Given the description of an element on the screen output the (x, y) to click on. 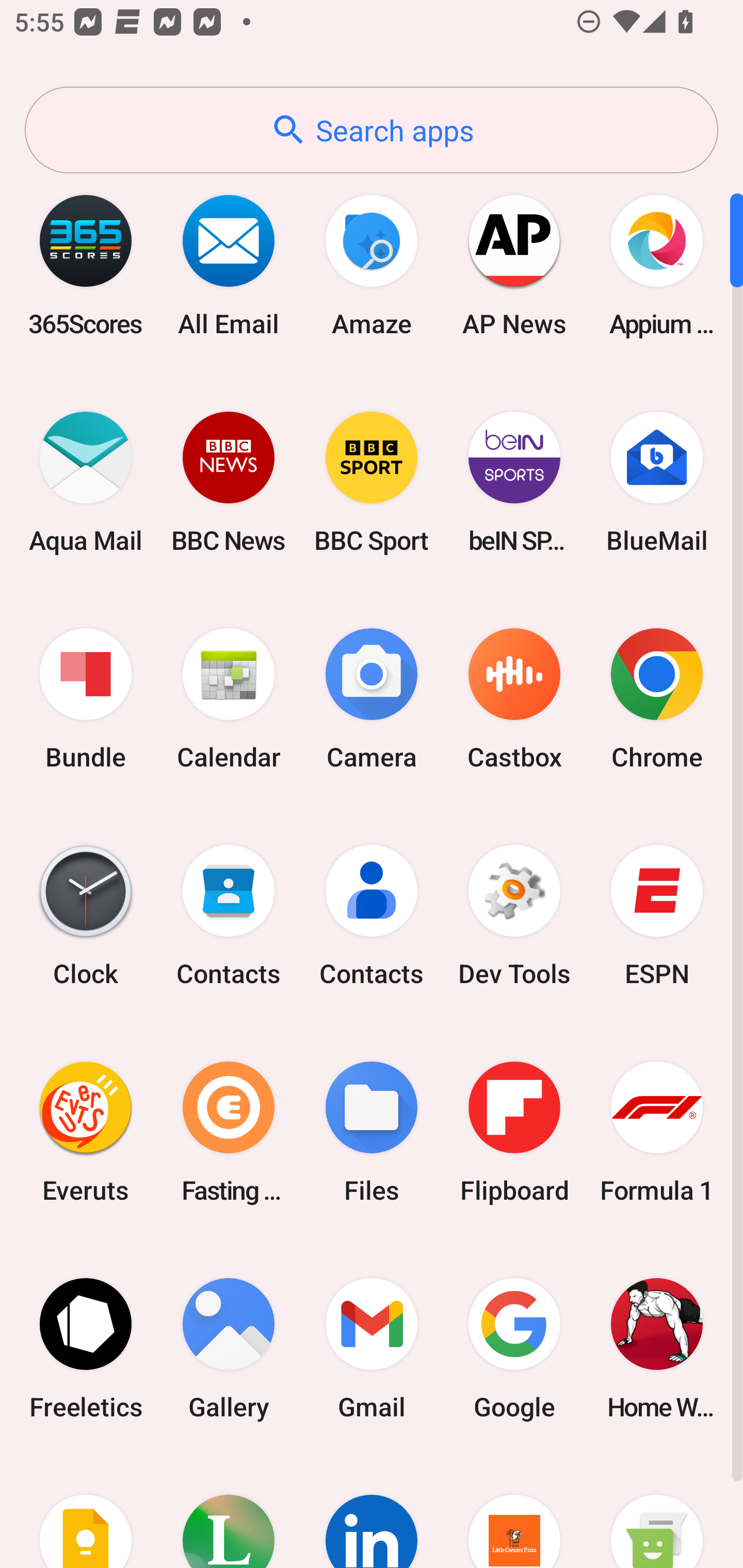
  Search apps (371, 130)
365Scores (85, 264)
All Email (228, 264)
Amaze (371, 264)
AP News (514, 264)
Appium Settings (656, 264)
Aqua Mail (85, 482)
BBC News (228, 482)
BBC Sport (371, 482)
beIN SPORTS (514, 482)
BlueMail (656, 482)
Bundle (85, 699)
Calendar (228, 699)
Camera (371, 699)
Castbox (514, 699)
Chrome (656, 699)
Clock (85, 915)
Contacts (228, 915)
Contacts (371, 915)
Dev Tools (514, 915)
ESPN (656, 915)
Everuts (85, 1131)
Fasting Coach (228, 1131)
Files (371, 1131)
Flipboard (514, 1131)
Formula 1 (656, 1131)
Freeletics (85, 1348)
Gallery (228, 1348)
Gmail (371, 1348)
Google (514, 1348)
Home Workout (656, 1348)
Keep Notes (85, 1512)
Lifesum (228, 1512)
LinkedIn (371, 1512)
Little Caesars Pizza (514, 1512)
Messaging (656, 1512)
